Given the description of an element on the screen output the (x, y) to click on. 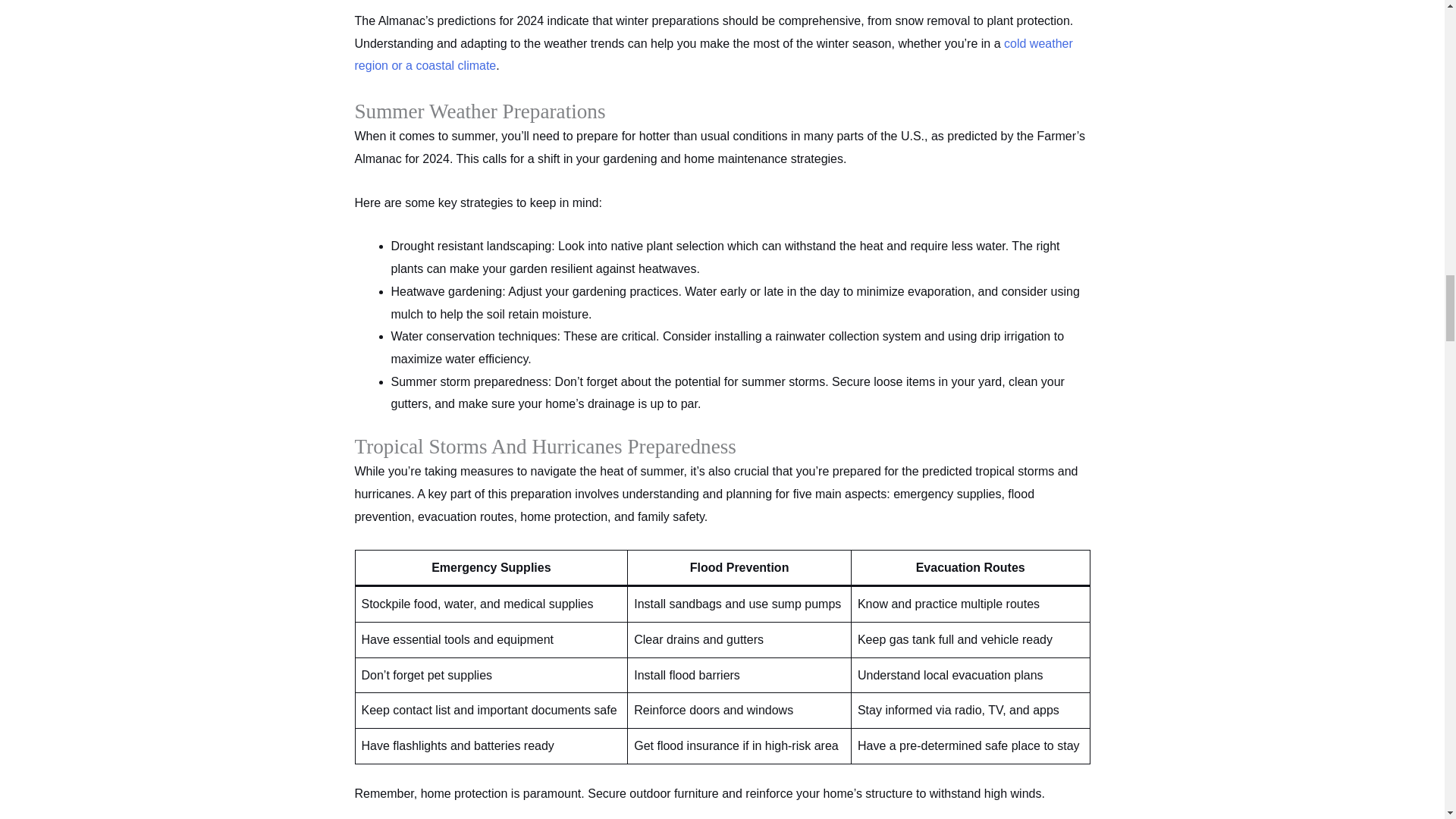
cold weather region or a coastal climate (714, 54)
